Given the description of an element on the screen output the (x, y) to click on. 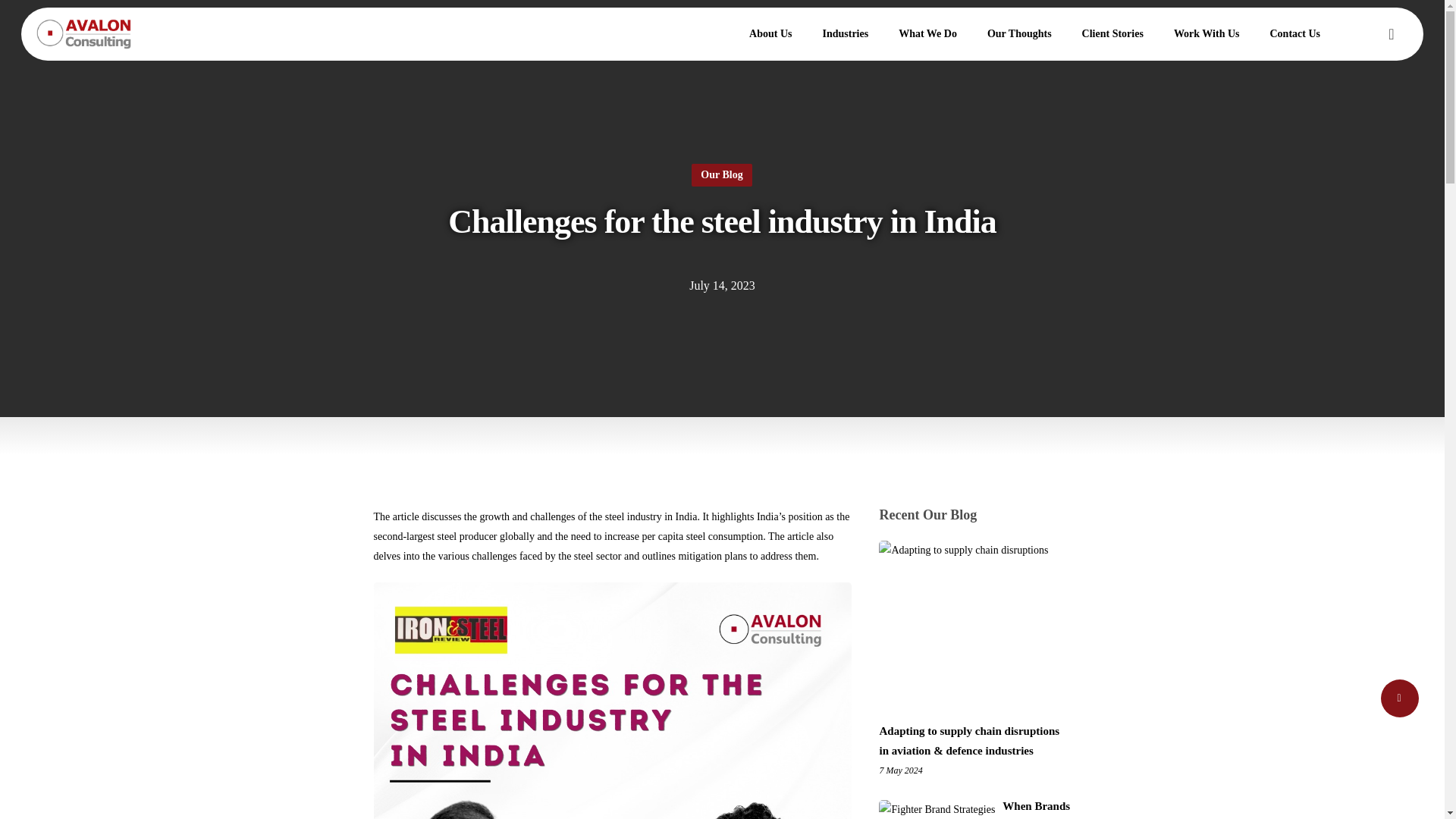
What We Do (927, 33)
About Us (769, 33)
Contact Us (1294, 33)
Work With Us (1206, 33)
Our Thoughts (1019, 33)
Our Blog (721, 174)
Client Stories (1112, 33)
Industries (844, 33)
search (1390, 33)
